Given the description of an element on the screen output the (x, y) to click on. 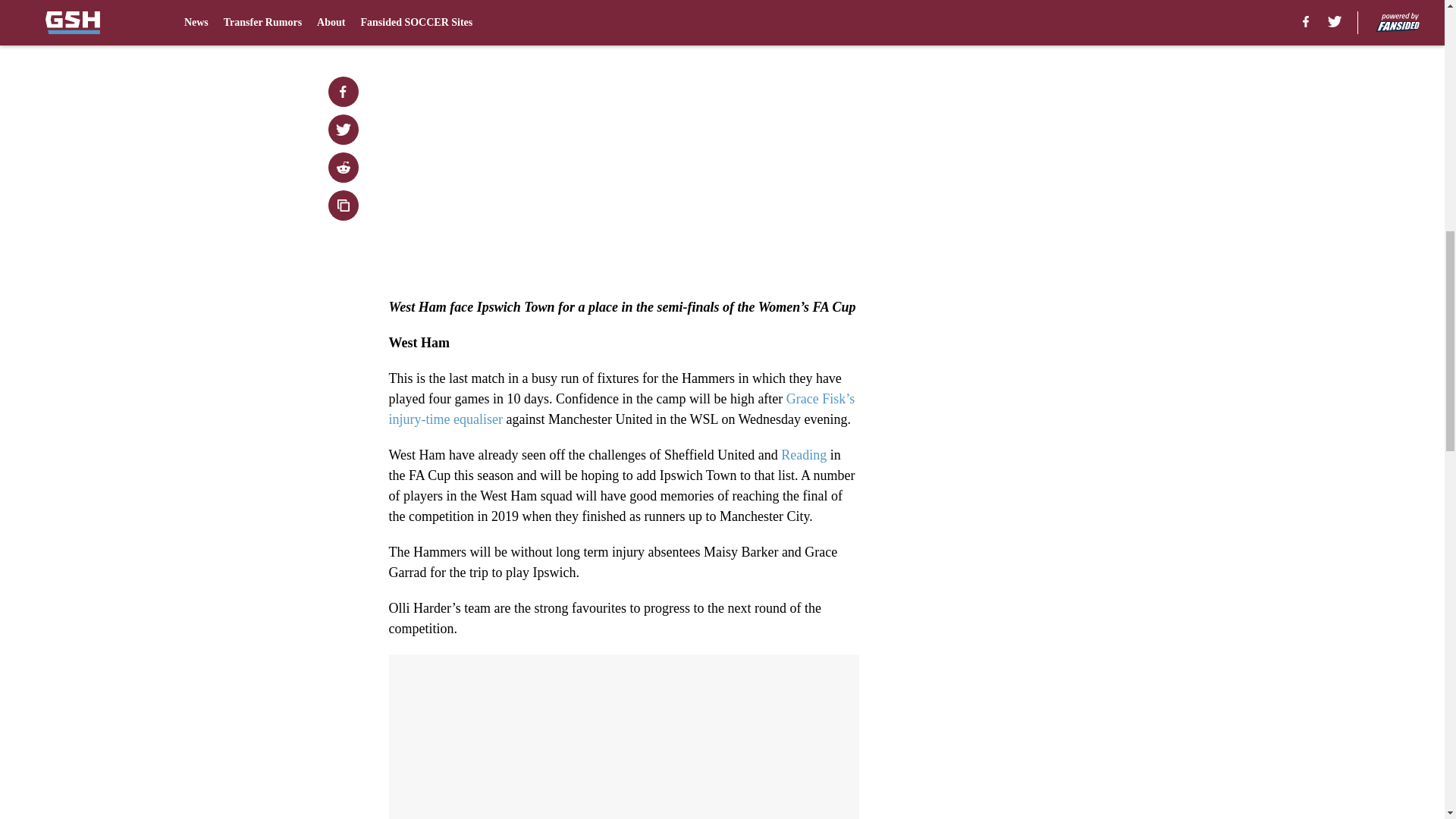
Reading (804, 454)
